Given the description of an element on the screen output the (x, y) to click on. 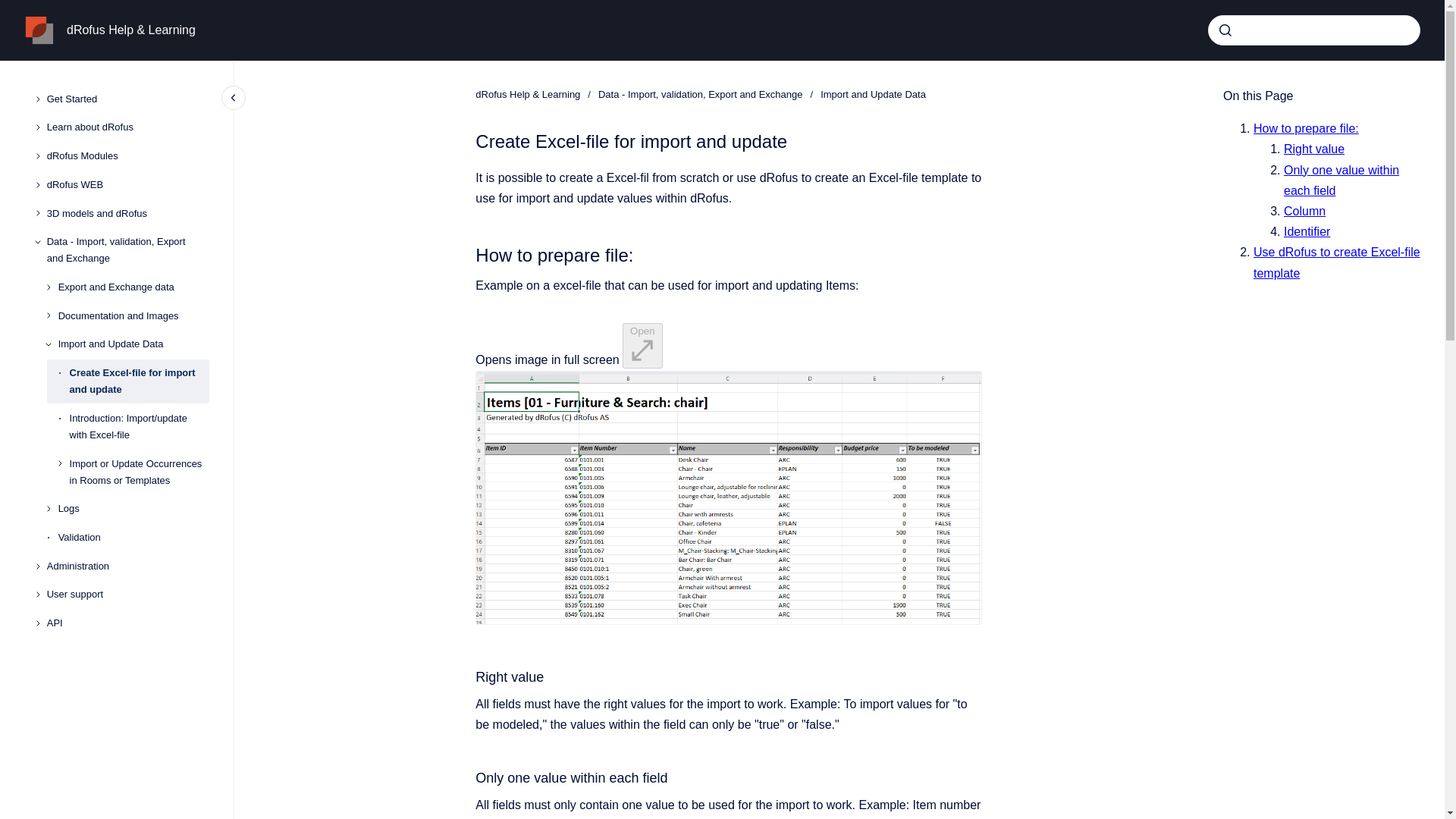
Import or Update Occurrences in Rooms or Templates (139, 472)
Import and Update Data (133, 344)
API (127, 623)
Administration (127, 565)
dRofus WEB (127, 185)
Learn about dRofus (127, 127)
Validation (133, 537)
Documentation and Images (133, 316)
Data - Import, validation, Export and Exchange (700, 94)
Get Started (127, 99)
